Given the description of an element on the screen output the (x, y) to click on. 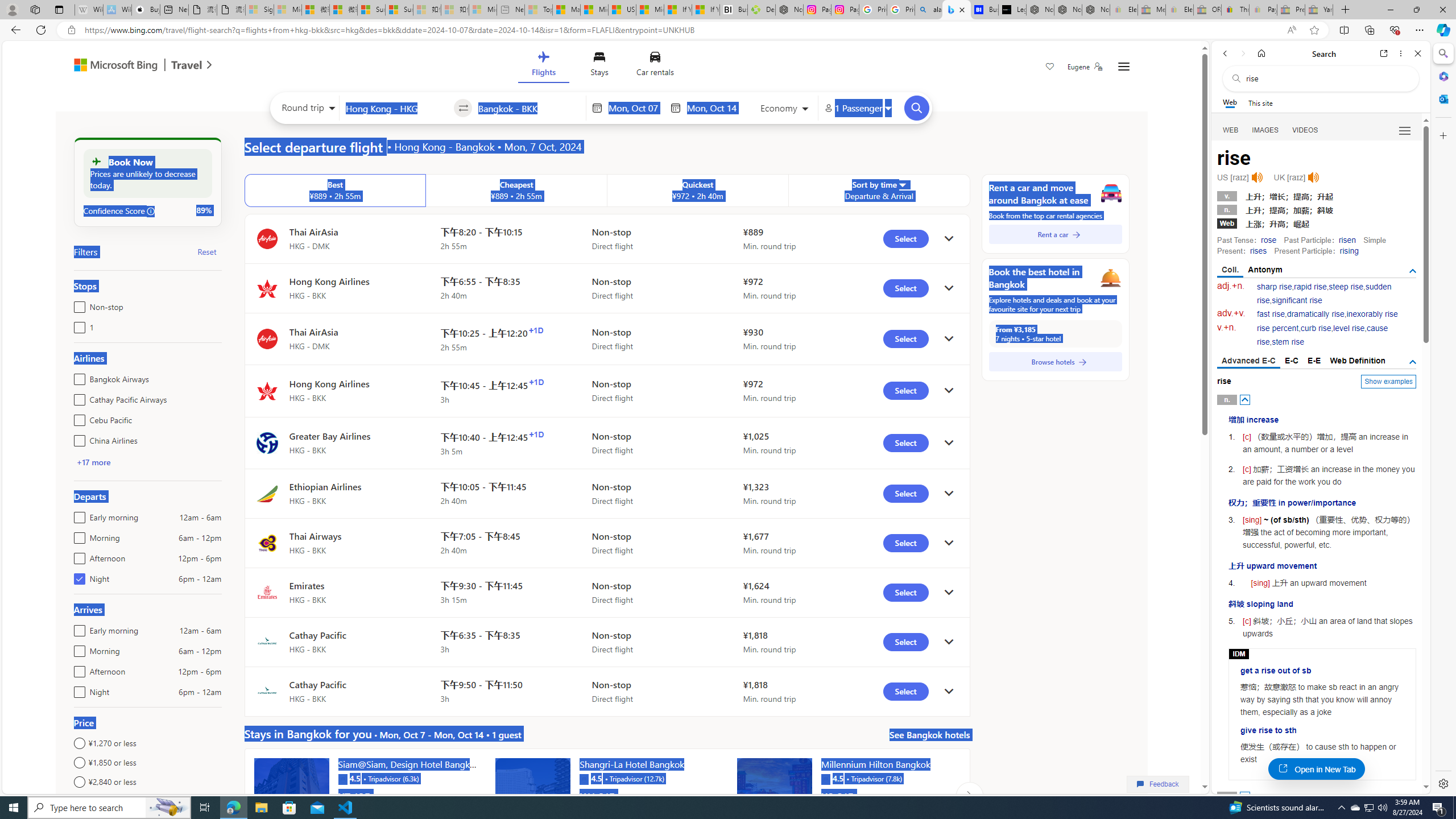
Info tooltip (151, 211)
inexorably rise (1371, 313)
Select class of service (784, 109)
level rise (1349, 328)
